Given the description of an element on the screen output the (x, y) to click on. 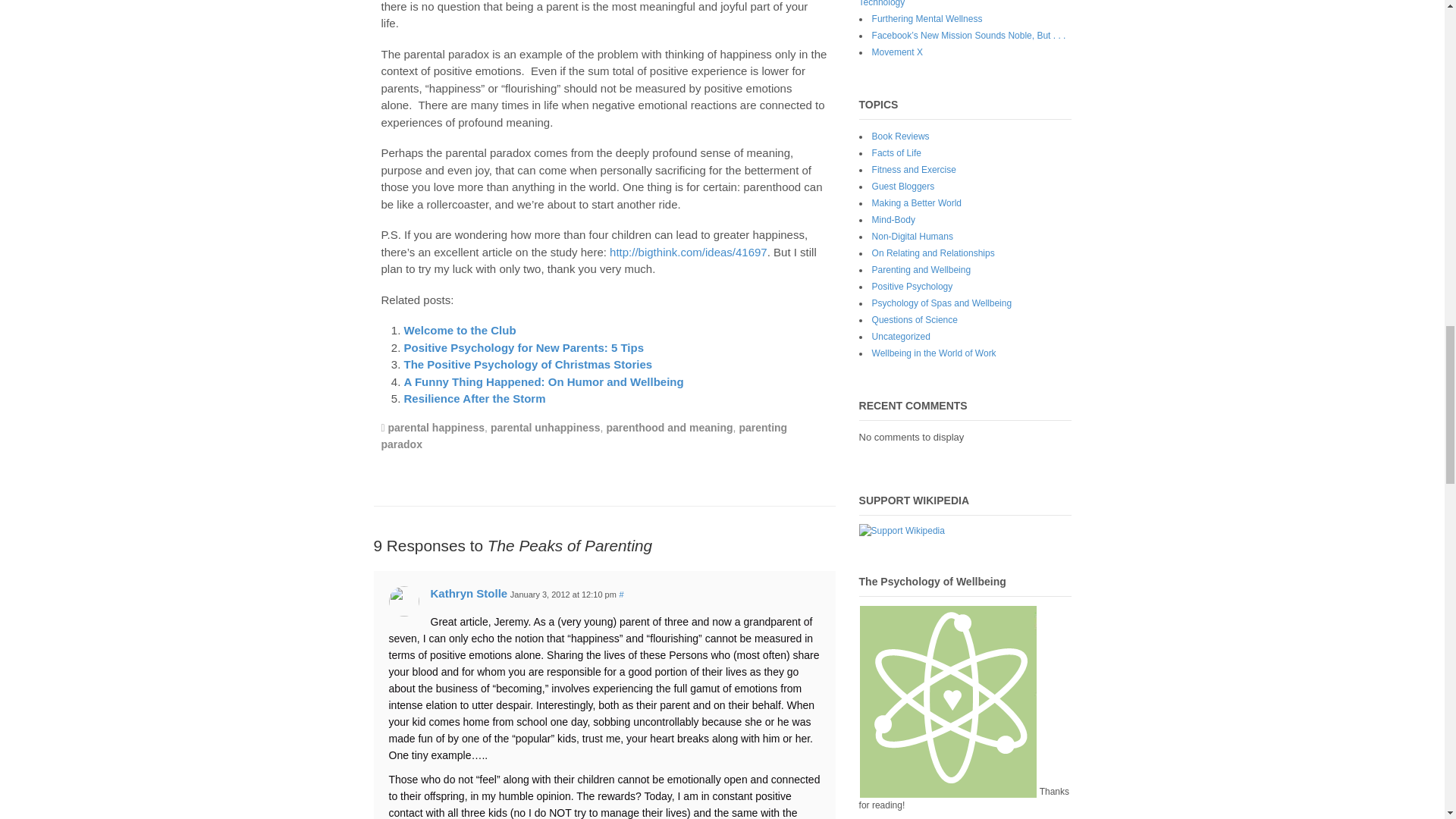
parental unhappiness (544, 427)
Positive Psychology for New Parents: 5 Tips (523, 347)
The Positive Psychology of Christmas Stories (527, 364)
Welcome to the Club (459, 329)
parenting paradox (583, 435)
The Positive Psychology of Christmas Stories (527, 364)
parenthood and meaning (668, 427)
A Funny Thing Happened: On Humor and Wellbeing (542, 381)
Welcome to the Club (459, 329)
Resilience After the Storm (473, 398)
Resilience After the Storm (473, 398)
Positive Psychology for New Parents: 5 Tips (523, 347)
parental happiness (436, 427)
A Funny Thing Happened: On Humor and Wellbeing (542, 381)
